Given the description of an element on the screen output the (x, y) to click on. 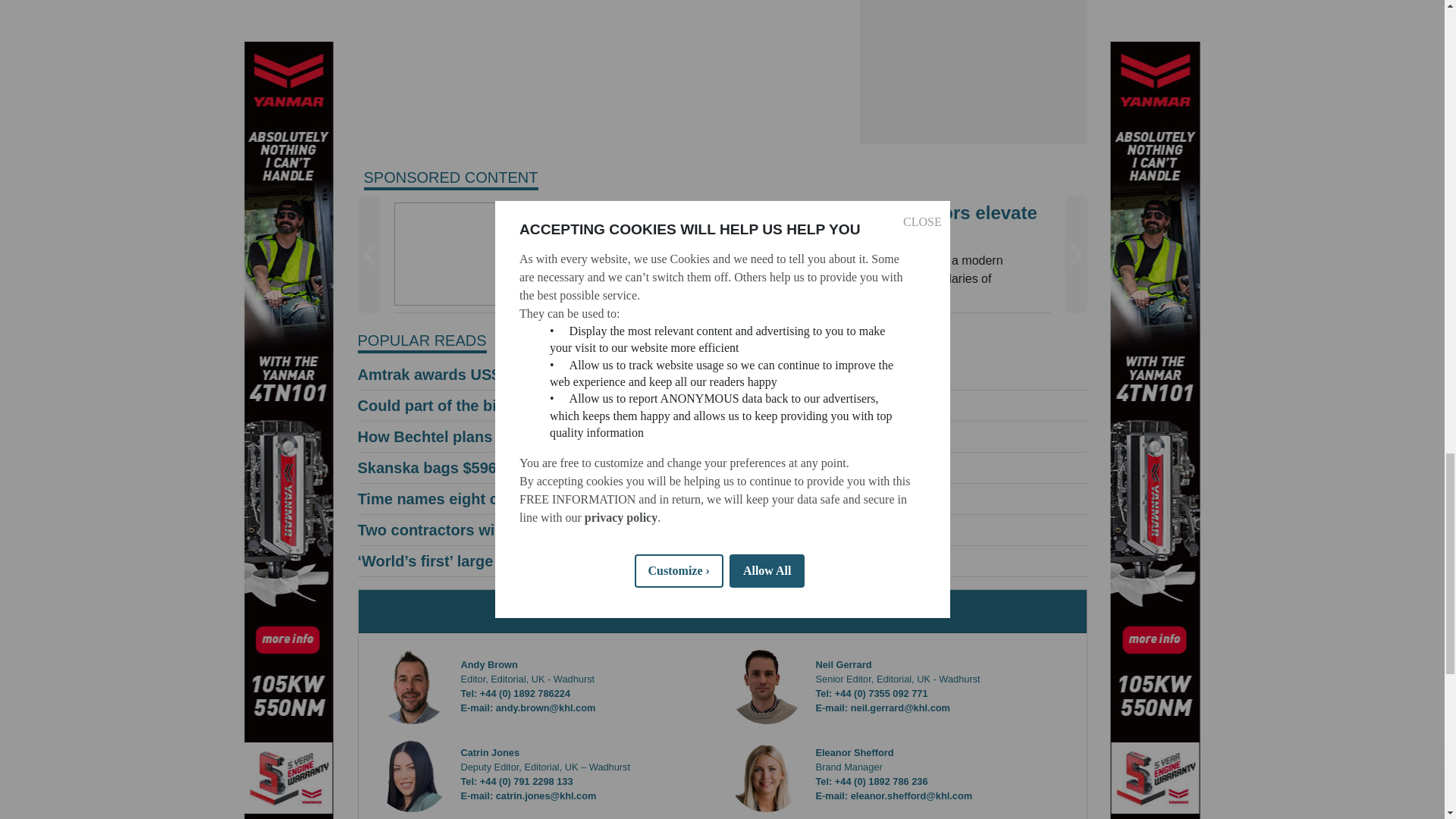
3rd party ad content (973, 72)
